Given the description of an element on the screen output the (x, y) to click on. 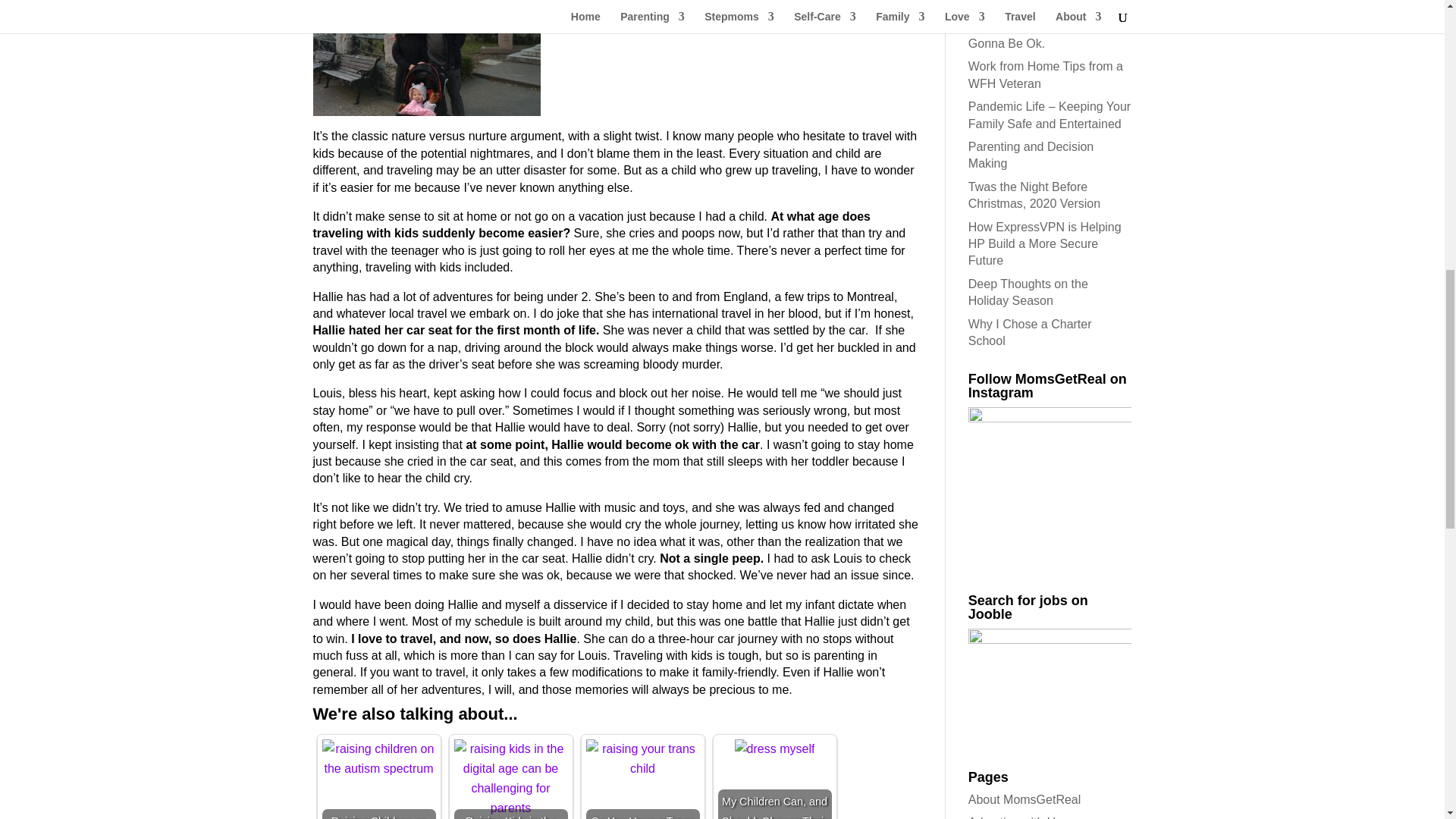
Raising Children on the Autism Spectrum (378, 758)
So You Have a Trans Child. Now What? (641, 758)
My Children Can, and Should, Choose Their Own Clothes (775, 749)
Raising Kids in the Digital Age (509, 778)
